Given the description of an element on the screen output the (x, y) to click on. 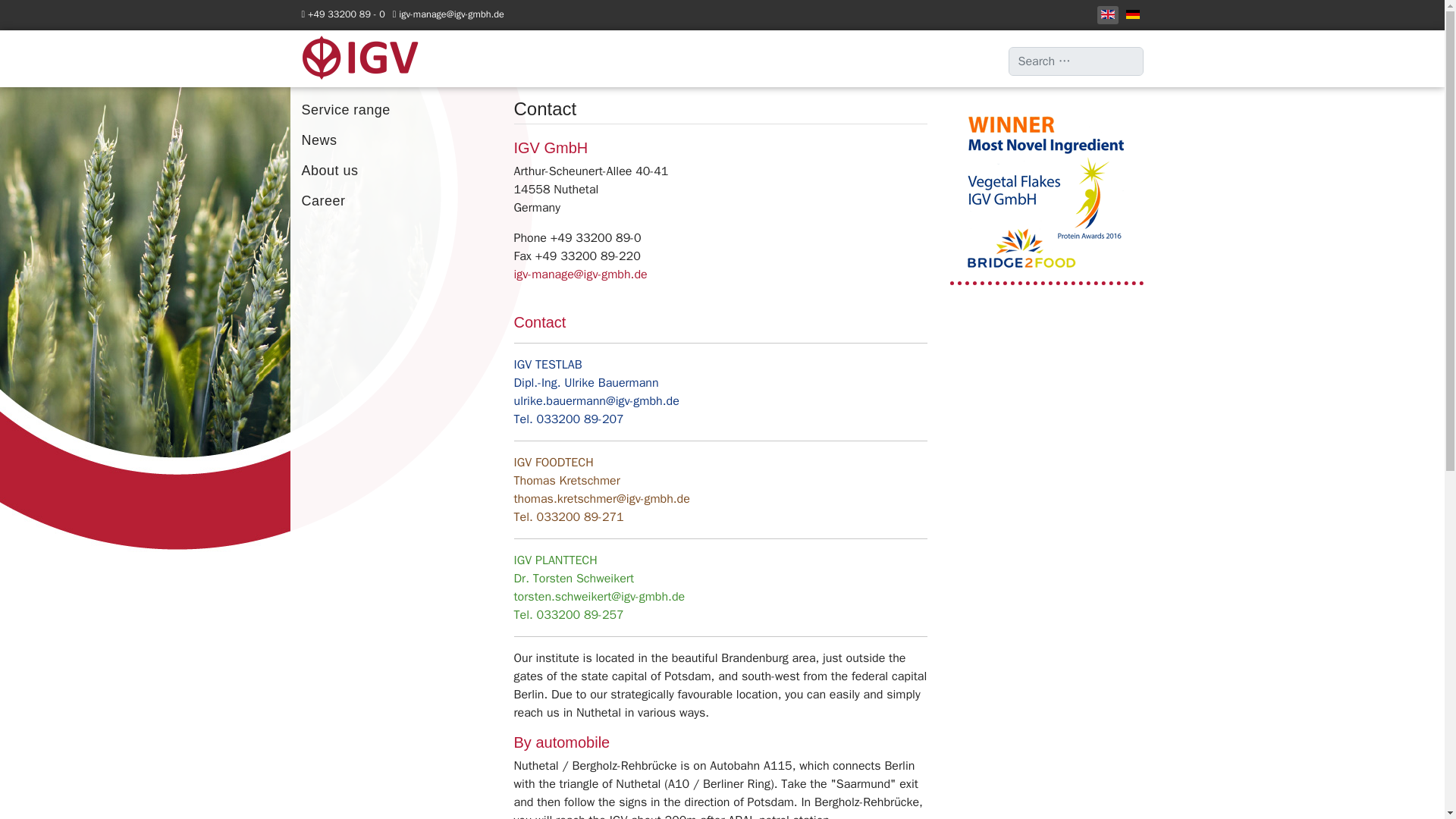
News (398, 140)
Service range (398, 110)
About us (398, 170)
Career (398, 200)
